Given the description of an element on the screen output the (x, y) to click on. 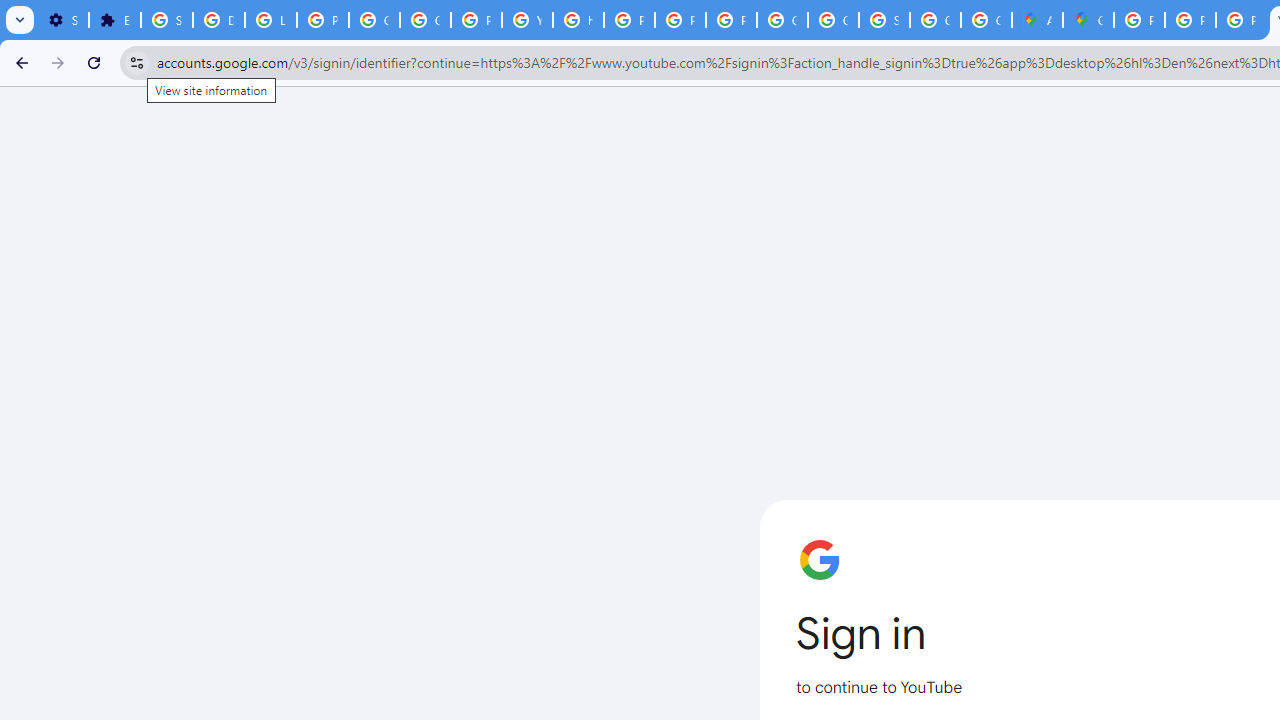
Privacy Help Center - Policies Help (629, 20)
Privacy Help Center - Policies Help (1241, 20)
Policy Accountability and Transparency - Transparency Center (1138, 20)
Sign in - Google Accounts (884, 20)
Google Maps (1087, 20)
